Given the description of an element on the screen output the (x, y) to click on. 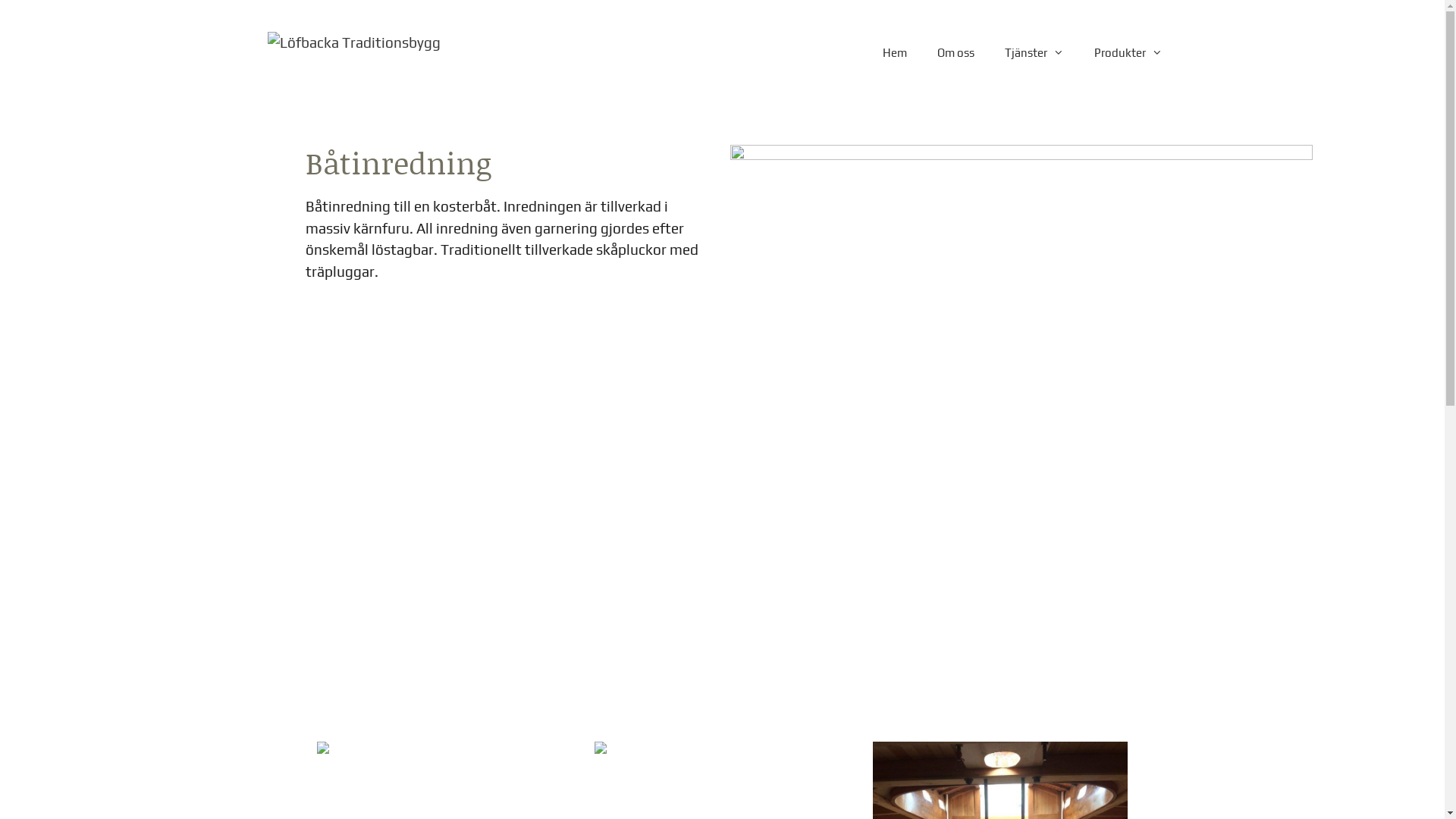
Hem Element type: text (894, 52)
Om oss Element type: text (955, 52)
Produkter Element type: text (1127, 52)
